Given the description of an element on the screen output the (x, y) to click on. 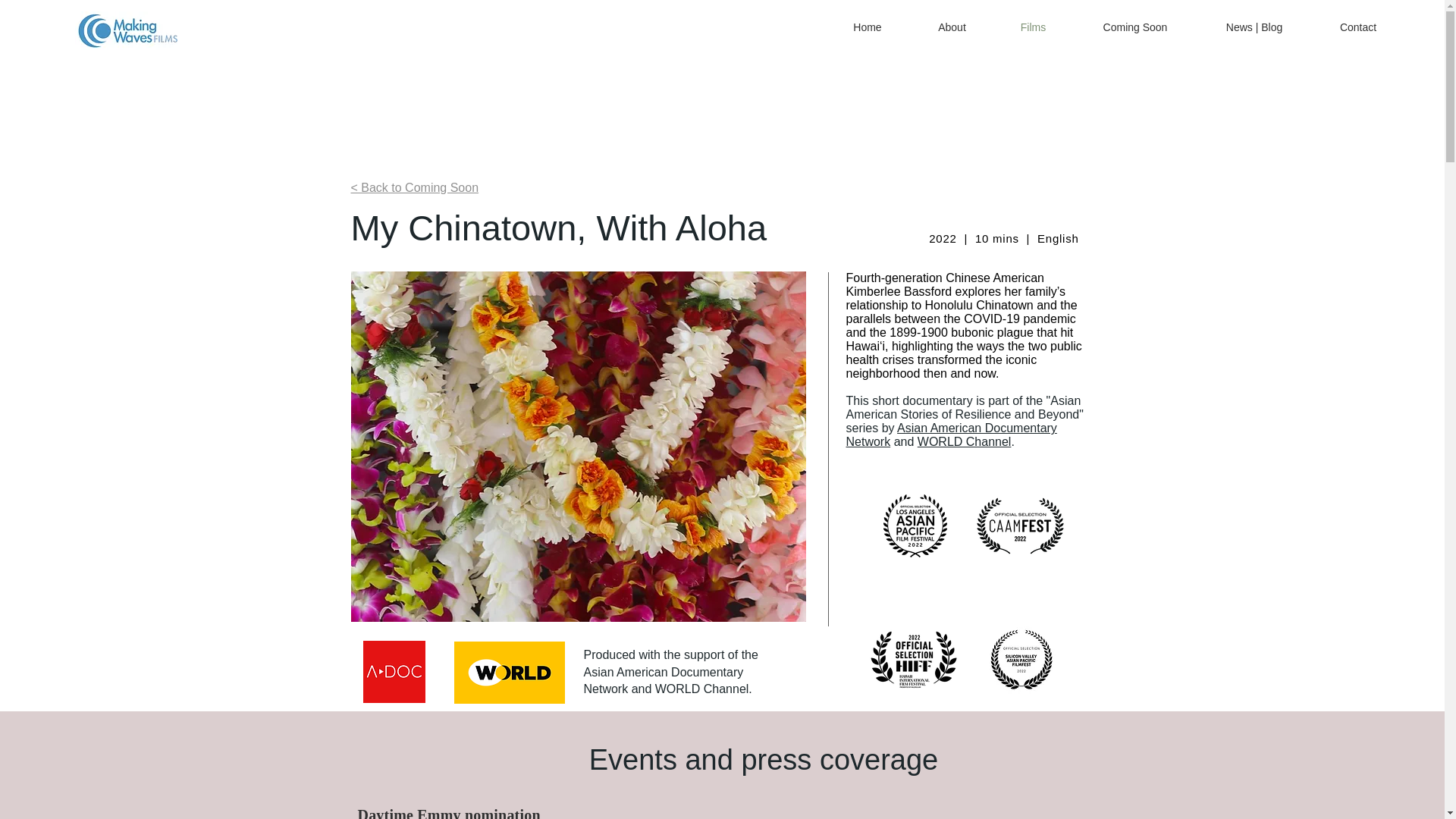
SVAPFF laurel black.jpg (1020, 657)
Home (867, 26)
WORLD Channel (964, 440)
Coming Soon (1134, 26)
Asian American Documentary Network (951, 434)
About (952, 26)
Films (1032, 26)
Contact (1358, 26)
